Given the description of an element on the screen output the (x, y) to click on. 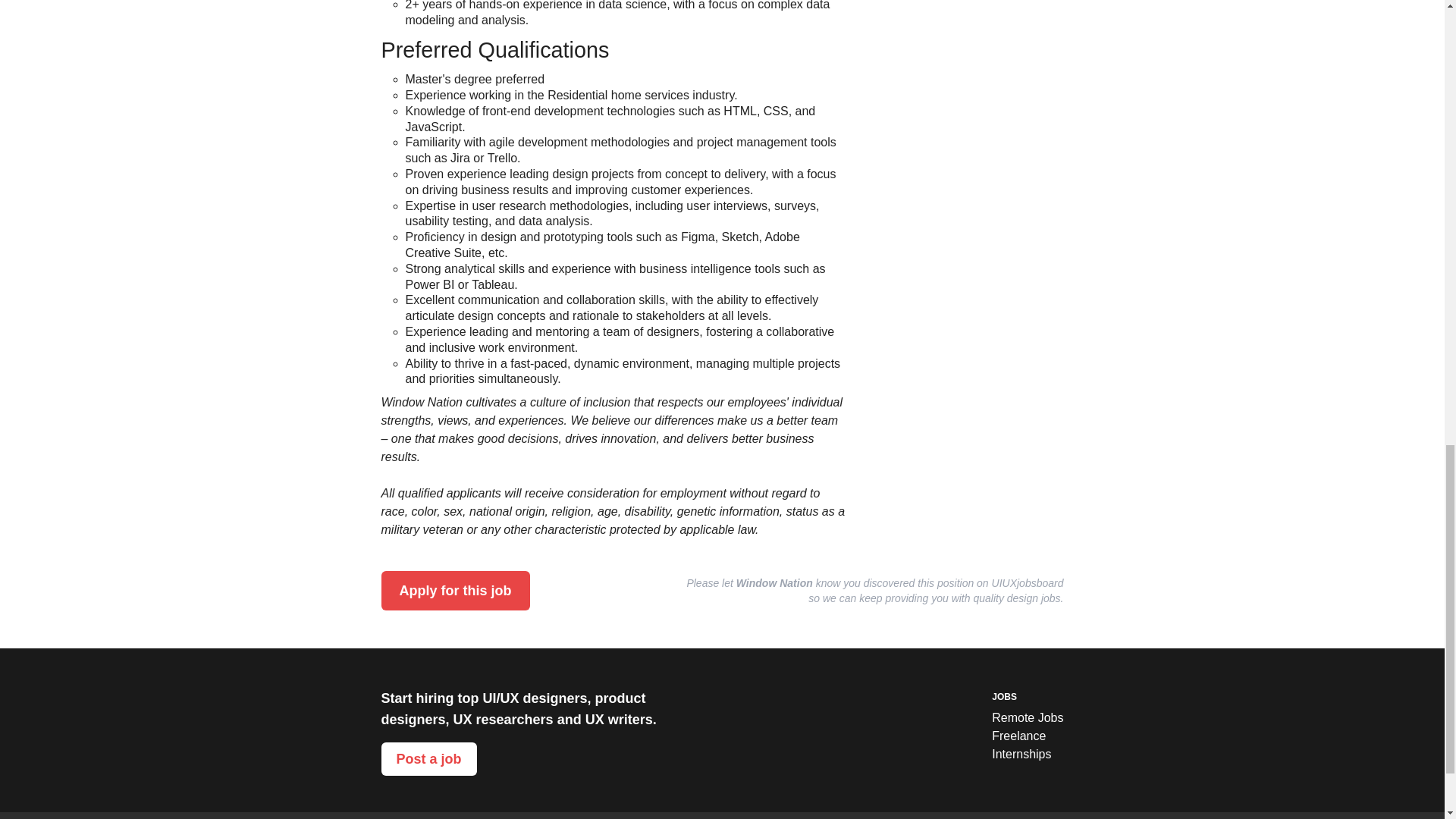
Post a job (428, 758)
Remote Jobs (1026, 718)
Apply for this job (454, 590)
Internships (1026, 754)
Freelance (1026, 736)
